Given the description of an element on the screen output the (x, y) to click on. 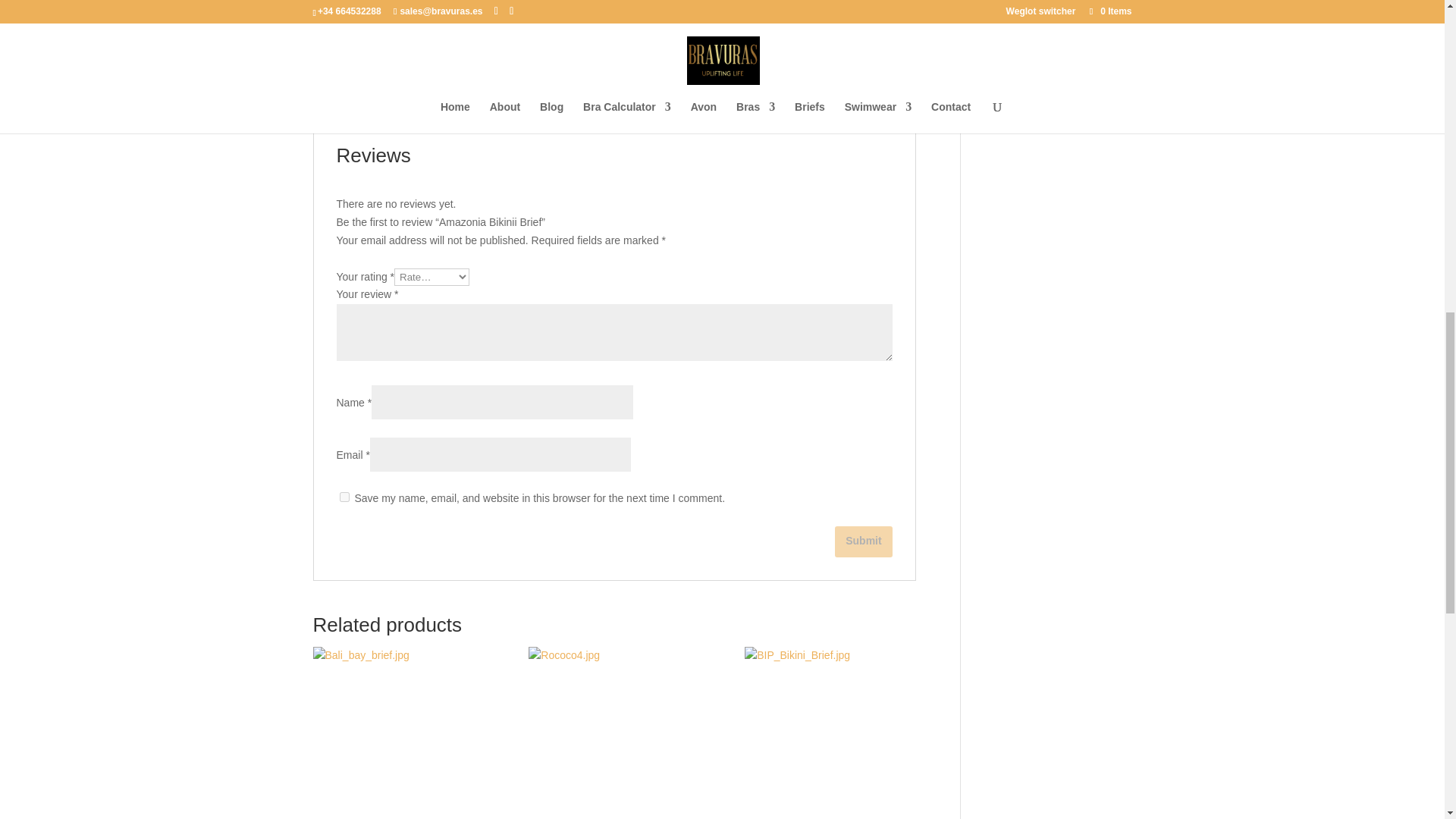
yes (344, 497)
22 (515, 59)
18 (480, 59)
26 (550, 59)
Submit (862, 541)
24 (532, 59)
20 (497, 59)
16 (462, 59)
